Given the description of an element on the screen output the (x, y) to click on. 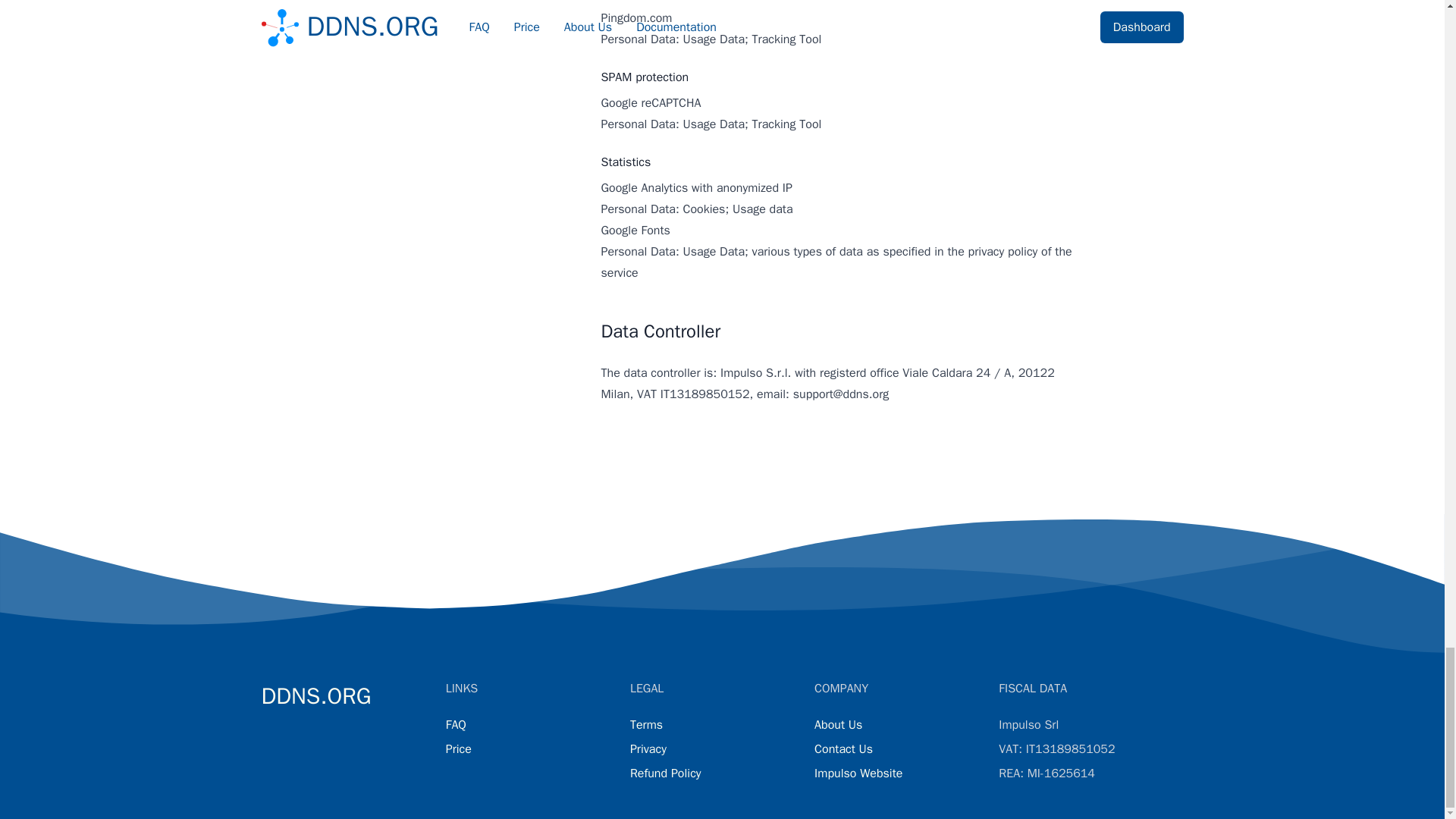
About Us (837, 724)
Price (458, 749)
Contact Us (842, 749)
Impulso Website (857, 773)
FAQ (455, 724)
Privacy (648, 749)
Terms (646, 724)
Refund Policy (665, 773)
DDNS.ORG (315, 695)
